Given the description of an element on the screen output the (x, y) to click on. 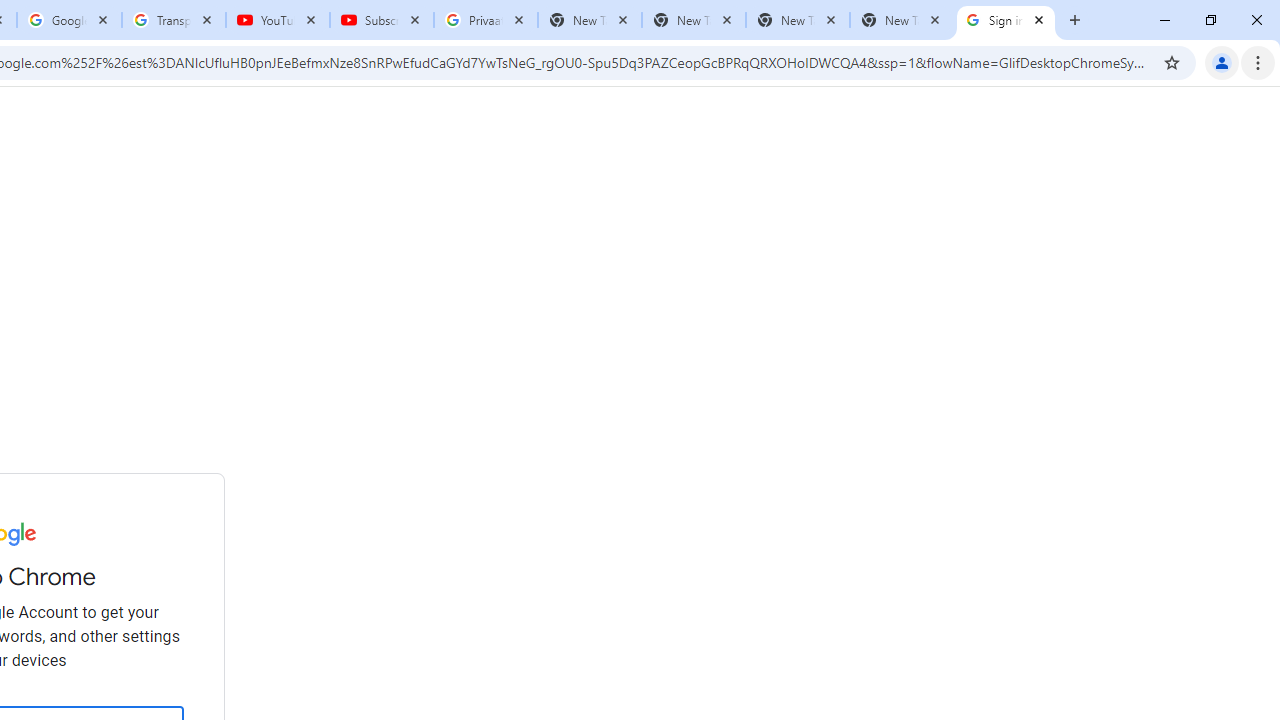
Google Account (68, 20)
YouTube (278, 20)
Subscriptions - YouTube (381, 20)
New Tab (901, 20)
Sign in - Google Accounts (1005, 20)
